Given the description of an element on the screen output the (x, y) to click on. 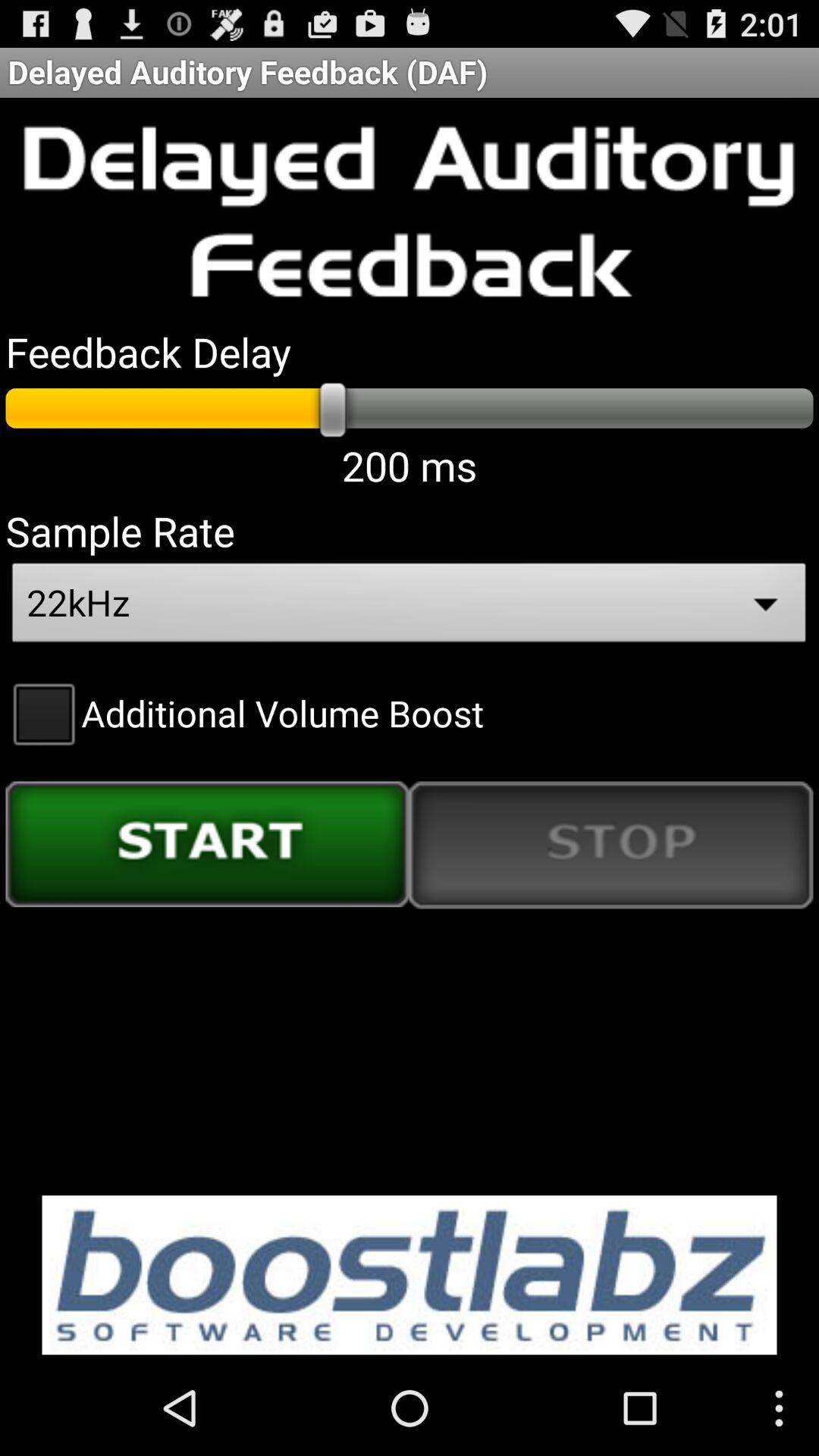
click the icon on the right (611, 844)
